Given the description of an element on the screen output the (x, y) to click on. 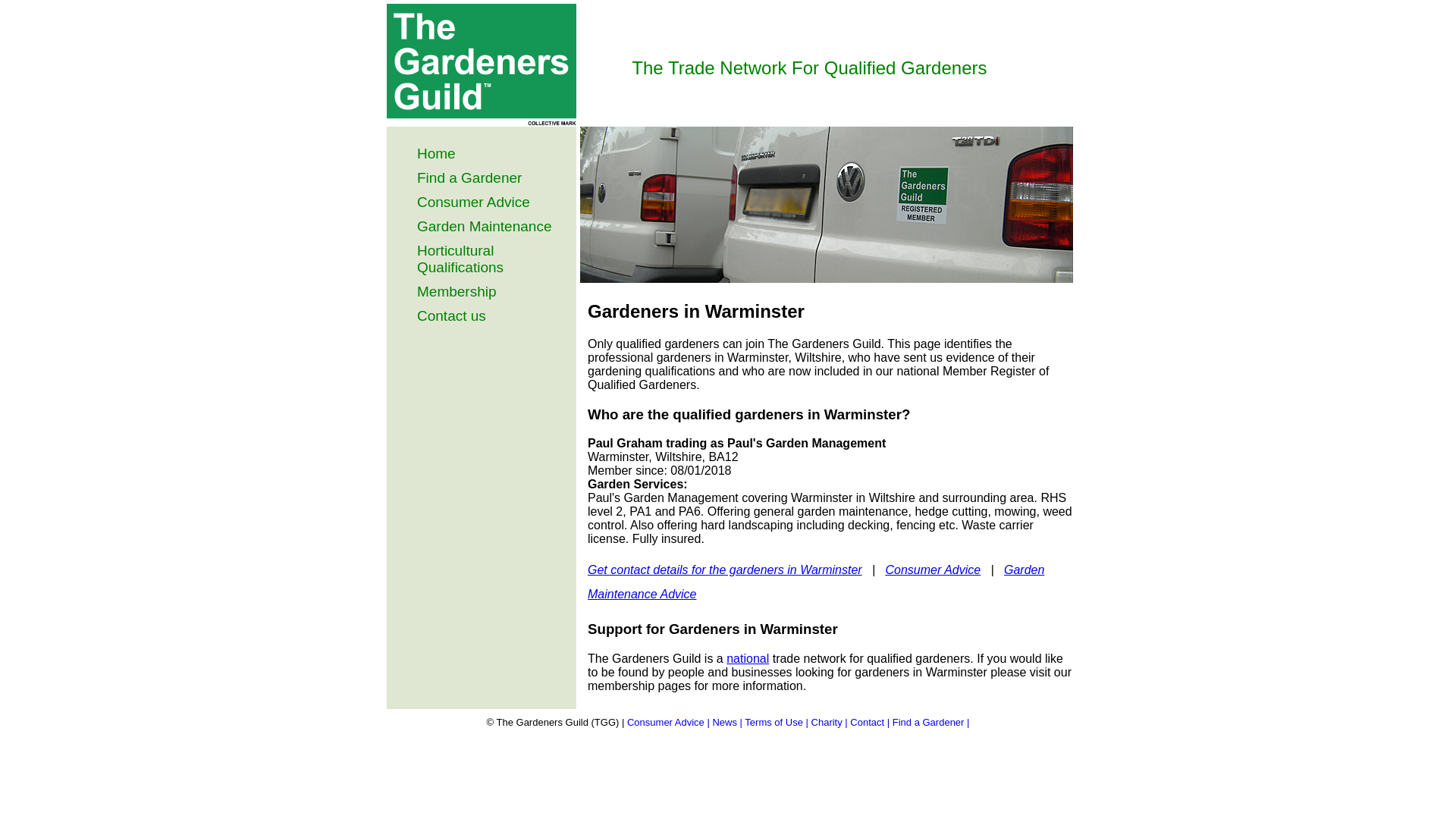
Consumer Advice (472, 201)
national (747, 658)
Home (435, 153)
Get contact details for the gardeners in Warminster (724, 569)
Horticultural Qualifications (459, 258)
Membership (456, 291)
Find a Gardener (468, 177)
Garden Maintenance Advice (815, 581)
Consumer Advice (932, 569)
Contact us (451, 315)
Garden Maintenance (483, 226)
